Given the description of an element on the screen output the (x, y) to click on. 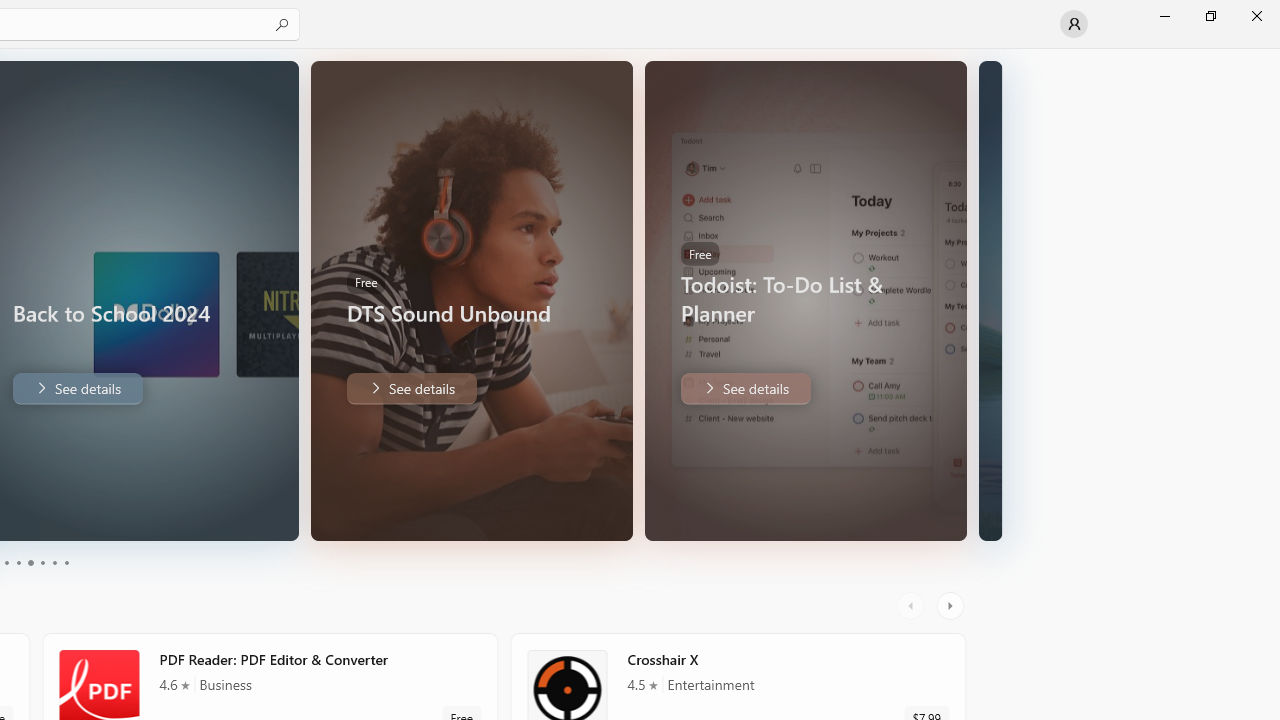
Page 3 (29, 562)
Page 1 (5, 562)
Pager (35, 562)
Page 4 (41, 562)
Page 5 (54, 562)
AutomationID: RightScrollButton (952, 606)
DTS Sound Unbound. Save 30% now. Free . See details (410, 387)
AutomationID: LeftScrollButton (913, 606)
Page 6 (65, 562)
Page 2 (17, 562)
